Given the description of an element on the screen output the (x, y) to click on. 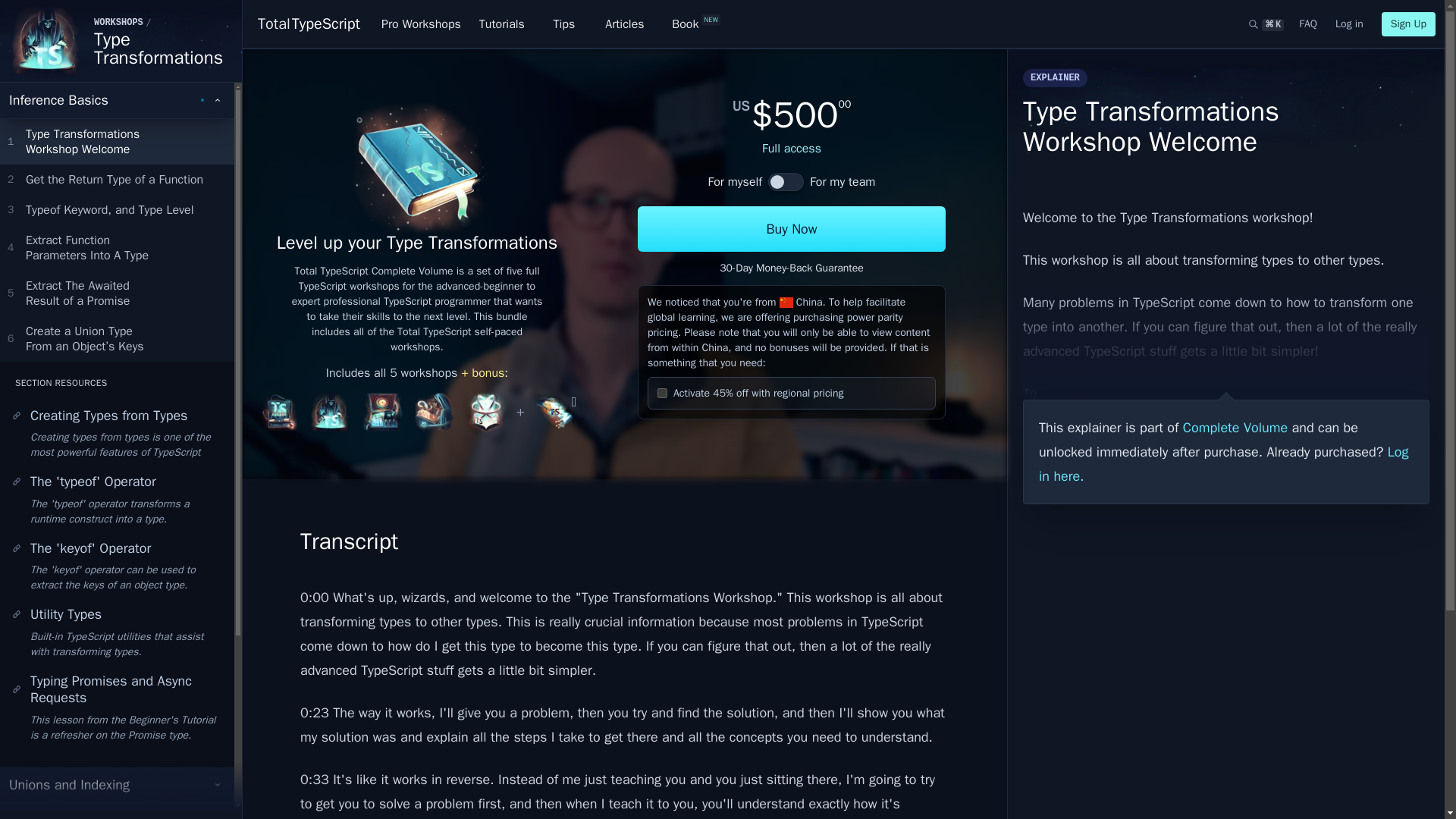
Unions and Indexing (117, 785)
The 'typeof' Operator (117, 481)
Pro Workshops (421, 23)
Tips (564, 23)
Tutorials (502, 23)
Template Literals (308, 23)
Creating Types from Types (117, 811)
For myself (117, 414)
Typing Promises and Async Requests (734, 181)
